Given the description of an element on the screen output the (x, y) to click on. 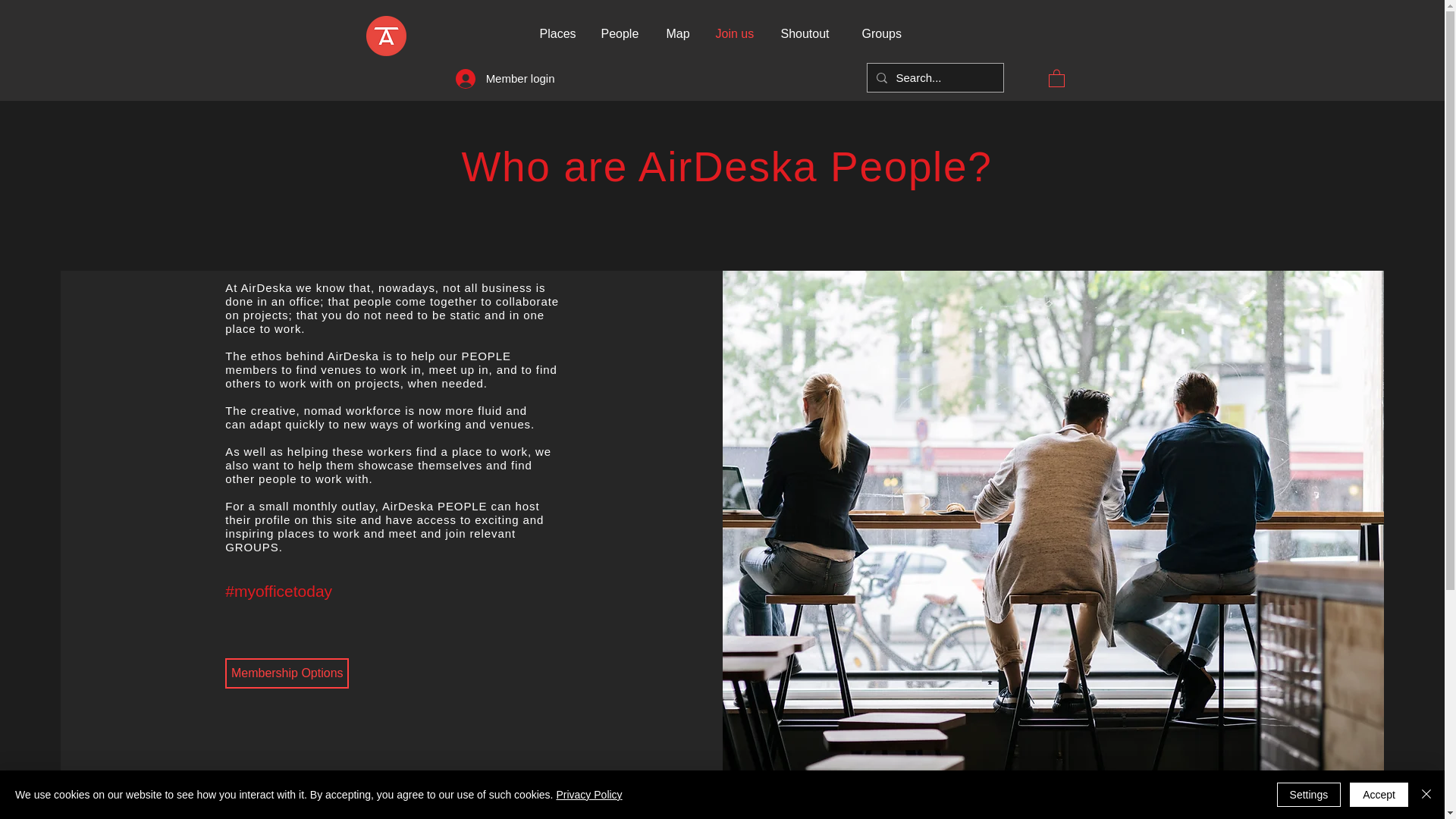
Member login (505, 77)
Groups (883, 34)
Join us (735, 34)
People (622, 34)
Places (558, 34)
Map (679, 34)
Settings (1308, 794)
Membership Options (287, 673)
Accept (1378, 794)
Privacy Policy (588, 794)
